Given the description of an element on the screen output the (x, y) to click on. 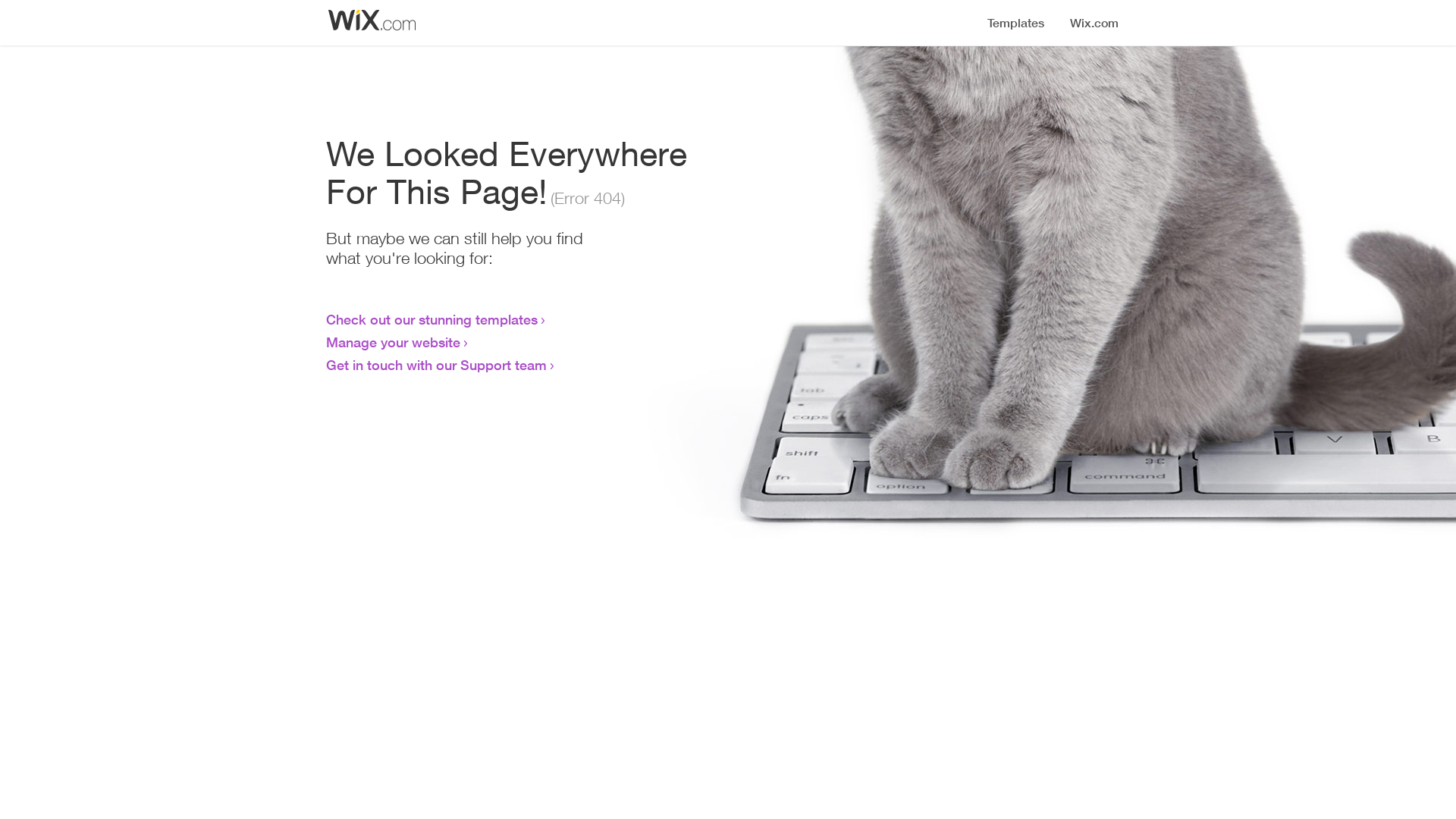
Get in touch with our Support team Element type: text (436, 364)
Manage your website Element type: text (393, 341)
Check out our stunning templates Element type: text (431, 318)
